Given the description of an element on the screen output the (x, y) to click on. 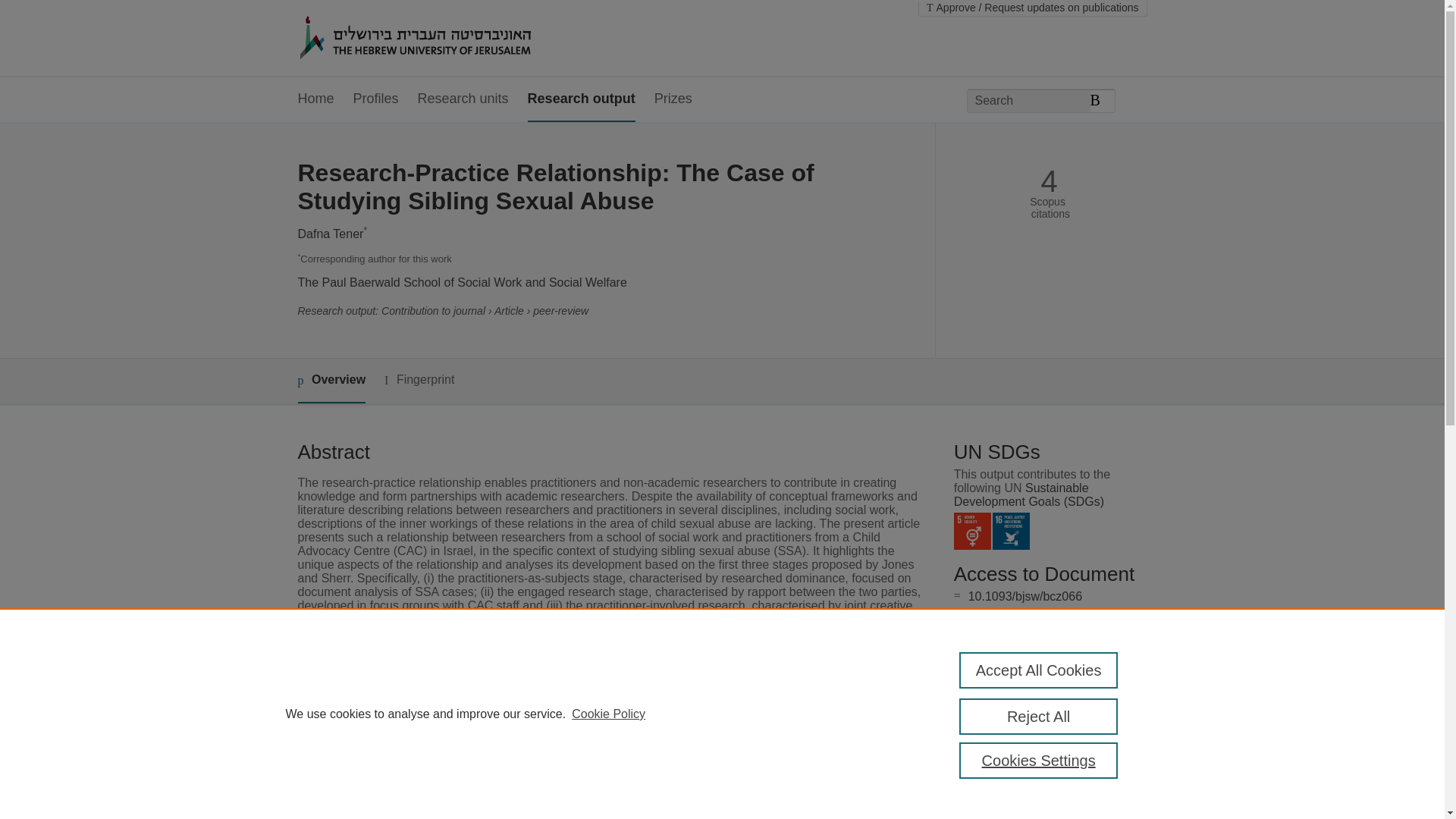
The Paul Baerwald School of Social Work and Social Welfare (461, 282)
British Journal of Social Work (587, 737)
Cookies Settings (1038, 760)
Overview (331, 380)
Dafna Tener (329, 233)
SDG 16 - Peace, Justice and Strong Institutions (1010, 530)
The Hebrew University of Jerusalem Home (447, 38)
Cookie Policy (608, 713)
Profiles (375, 99)
Link to publication in Scopus (1045, 656)
Research units (462, 99)
Fingerprint (419, 380)
Research output (580, 99)
SDG 5 - Gender Equality (972, 530)
